Given the description of an element on the screen output the (x, y) to click on. 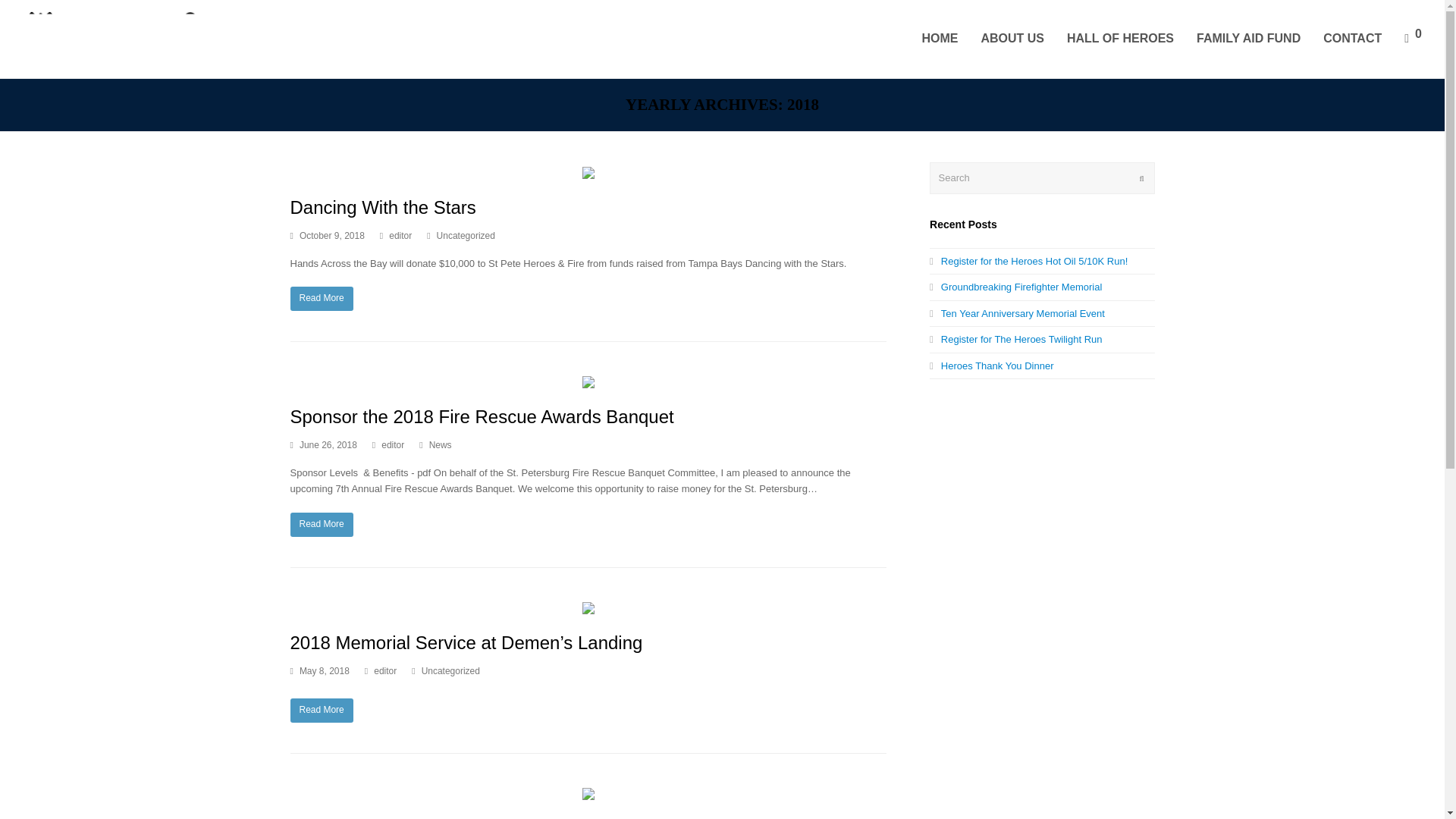
Read More (320, 298)
Posts by editor (385, 670)
Read More (320, 710)
Read More (320, 524)
Uncategorized (451, 670)
HALL OF HEROES (1120, 38)
Memorial Run Results Are In! (588, 791)
ABOUT US (1012, 38)
0 (1412, 38)
